Given the description of an element on the screen output the (x, y) to click on. 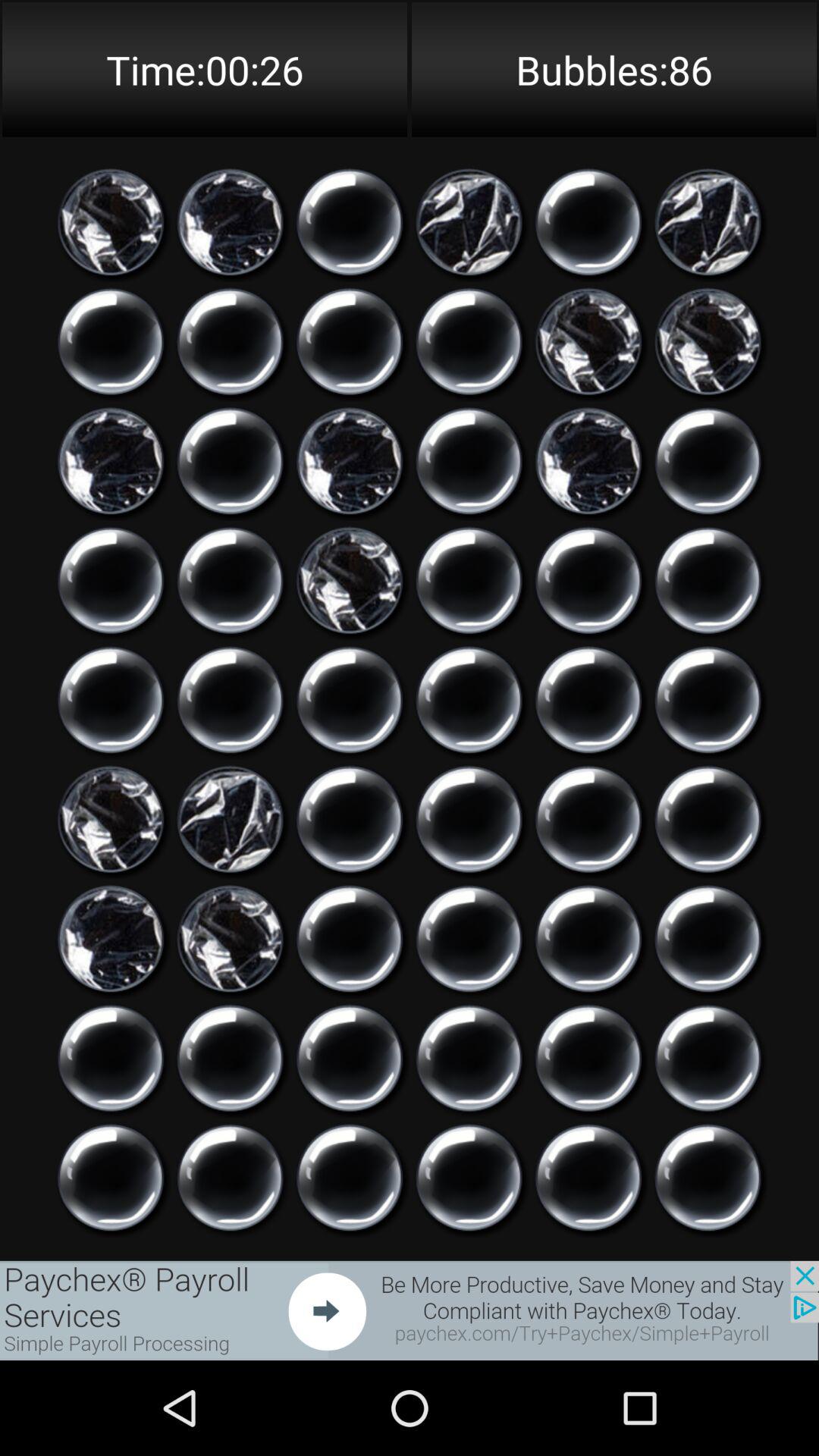
pop bubble (349, 222)
